Given the description of an element on the screen output the (x, y) to click on. 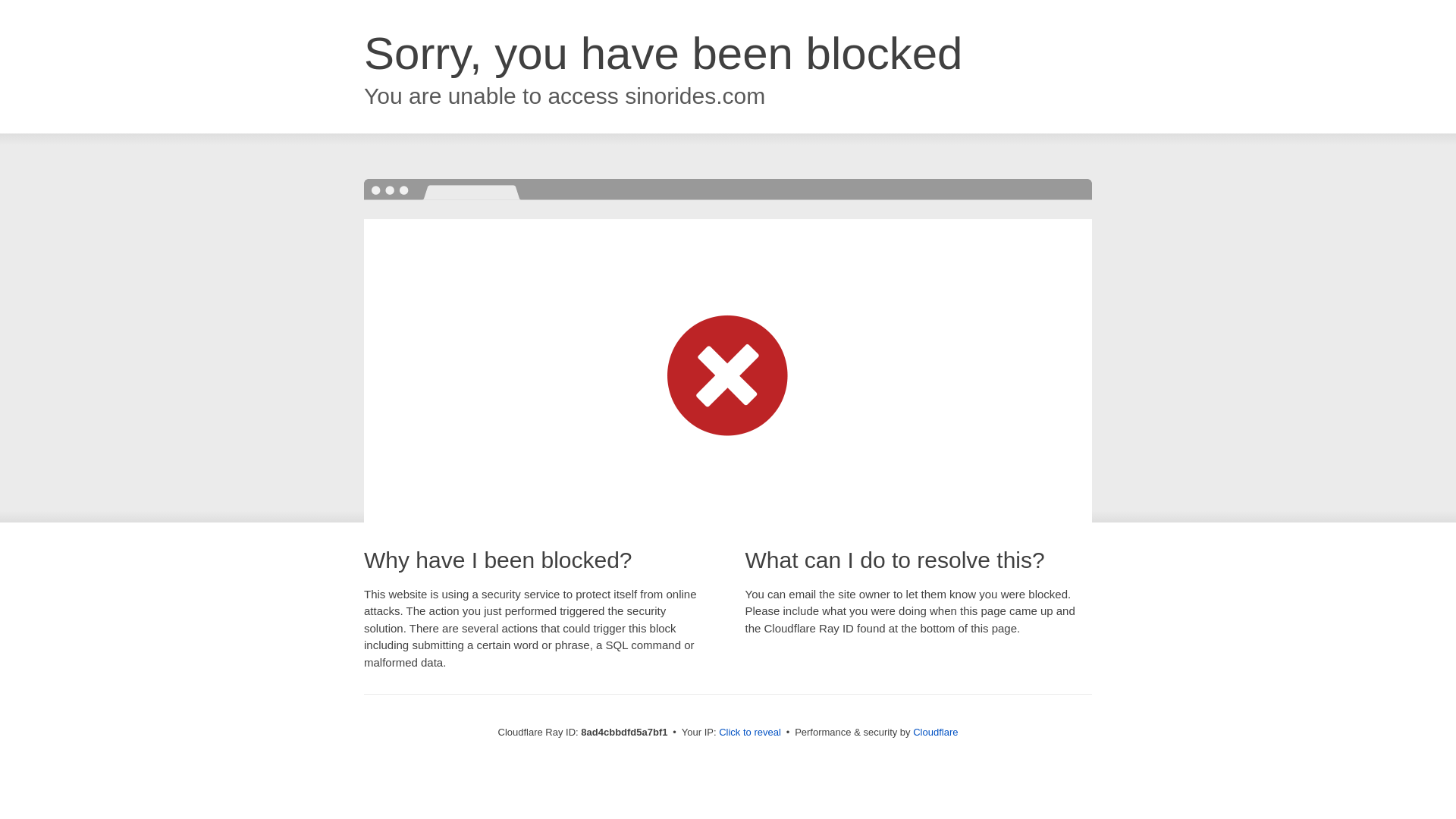
Cloudflare (935, 731)
Click to reveal (749, 732)
